Given the description of an element on the screen output the (x, y) to click on. 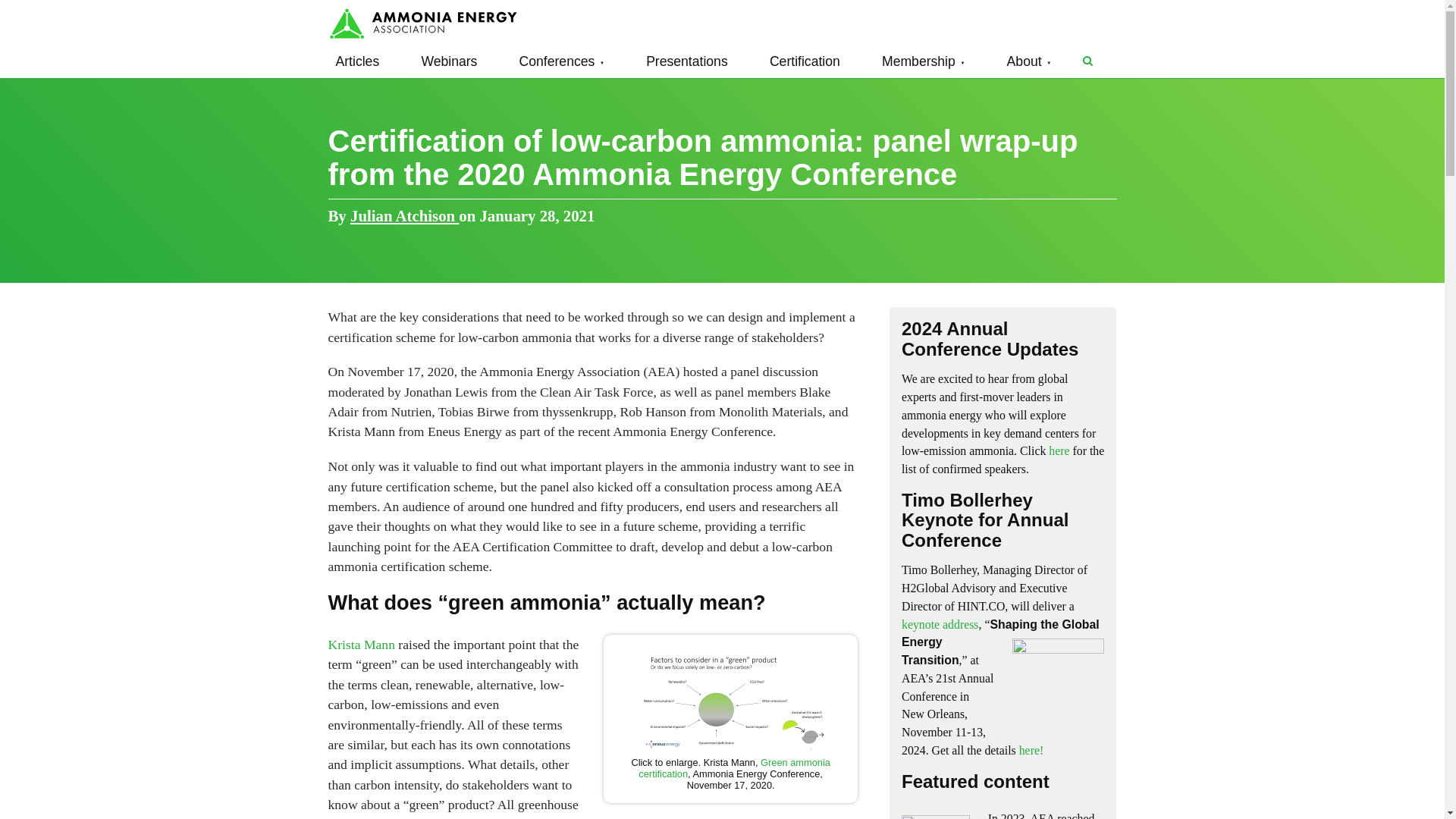
Presentations (687, 60)
Green ammonia certification (734, 767)
Webinars (448, 60)
Krista Mann (360, 644)
Membership (923, 60)
Julian Atchison (404, 215)
Articles (357, 60)
Search (1088, 61)
About (1028, 60)
Conferences (561, 60)
